Given the description of an element on the screen output the (x, y) to click on. 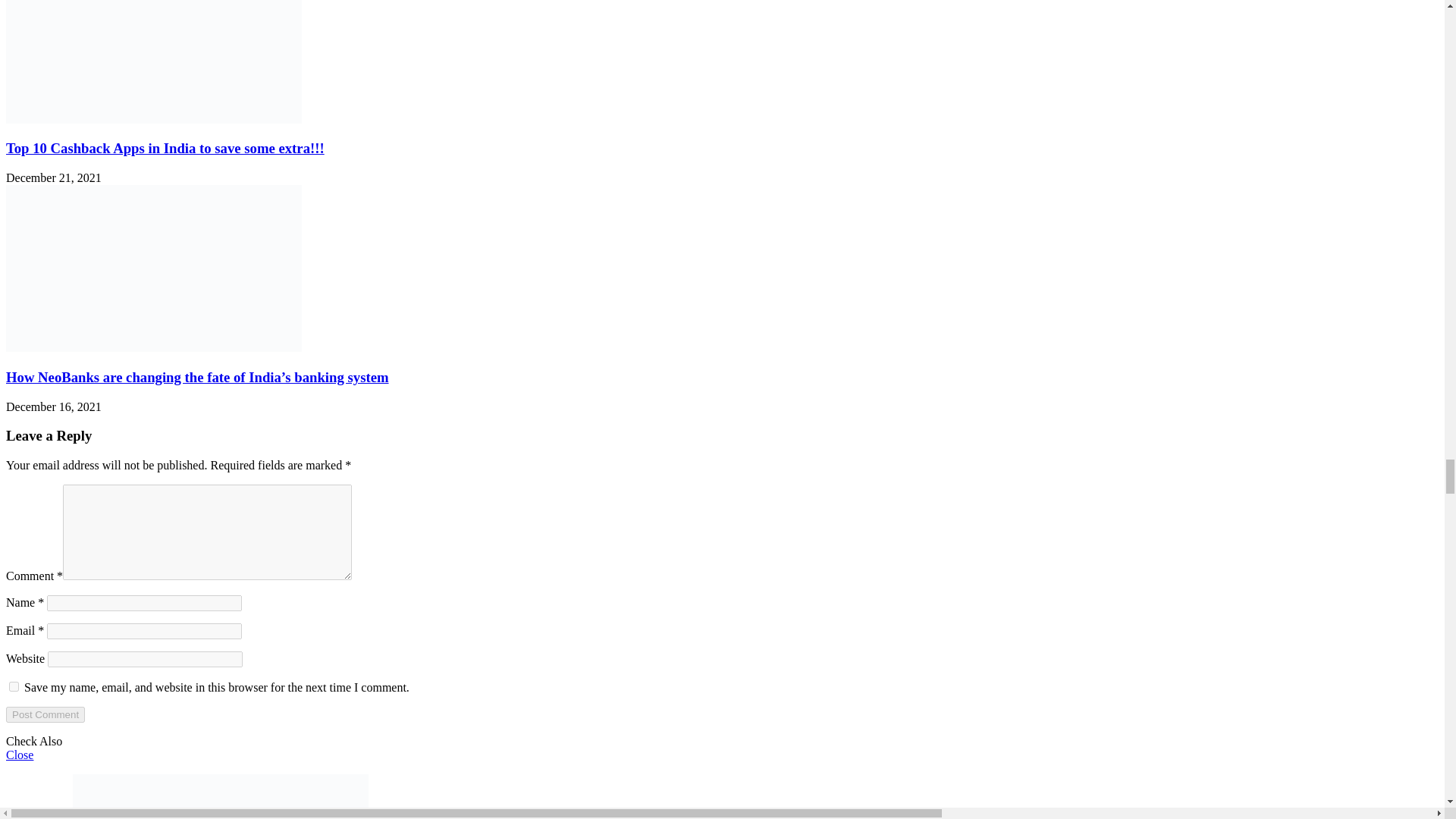
Post Comment (44, 714)
yes (13, 686)
